Given the description of an element on the screen output the (x, y) to click on. 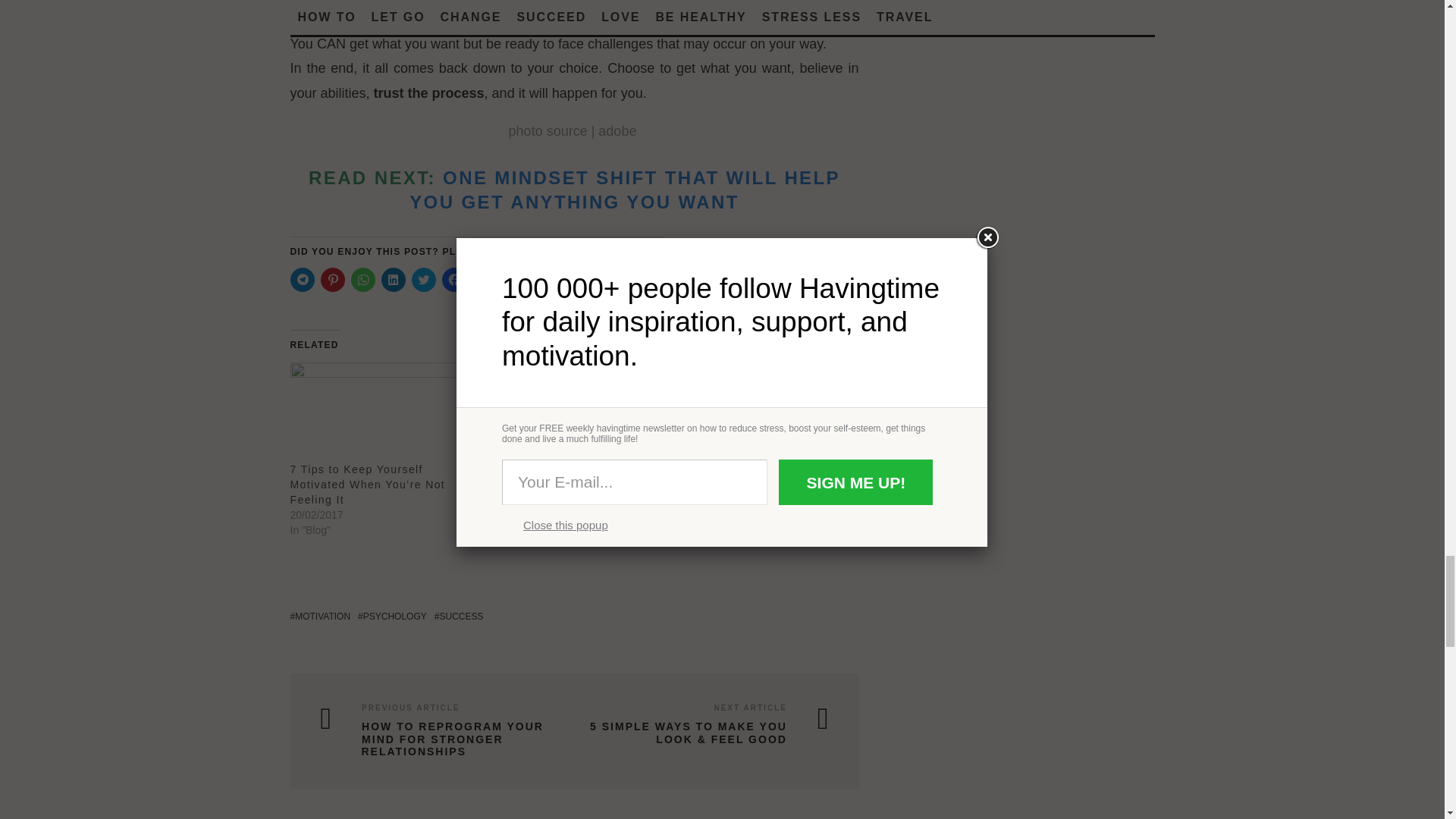
Click to print (483, 279)
Top 10 Uplifting Quotes on Happiness (572, 411)
Click to share on Facebook (453, 279)
Click to share on LinkedIn (392, 279)
Click to share on Telegram (301, 279)
Click to share on Twitter (422, 279)
Click to share on Pinterest (331, 279)
Click to share on WhatsApp (362, 279)
